Given the description of an element on the screen output the (x, y) to click on. 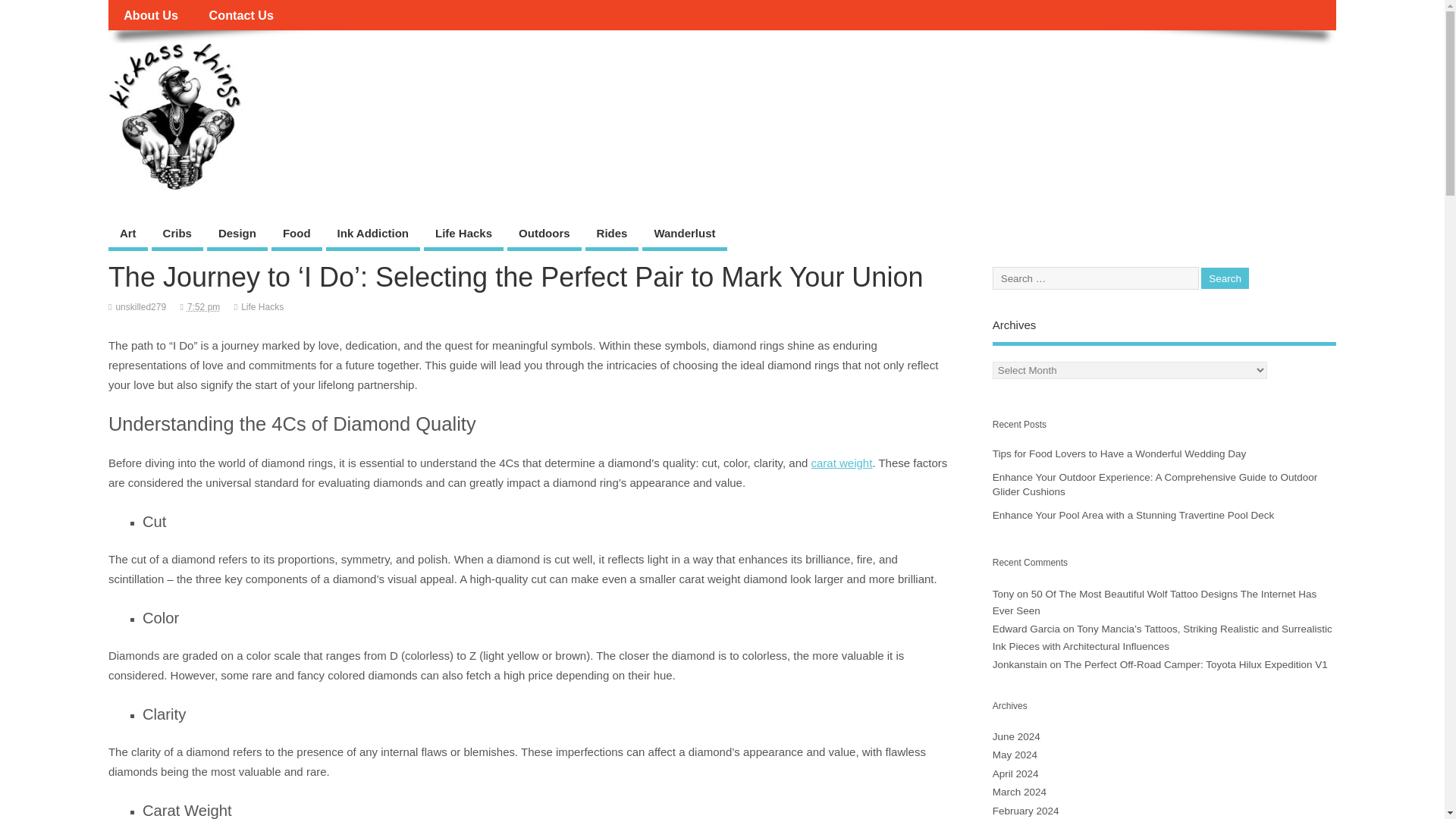
February 2024 (1025, 810)
Food (295, 235)
Posts by unskilled279 (140, 307)
Life Hacks (463, 235)
March 2024 (1019, 791)
Search (1225, 278)
unskilled279 (140, 307)
April 2024 (1015, 773)
Outdoors (543, 235)
May 2024 (1014, 754)
Art (127, 235)
Life Hacks (262, 307)
Search (1225, 278)
Advertisement (1047, 77)
About Us (150, 15)
